Given the description of an element on the screen output the (x, y) to click on. 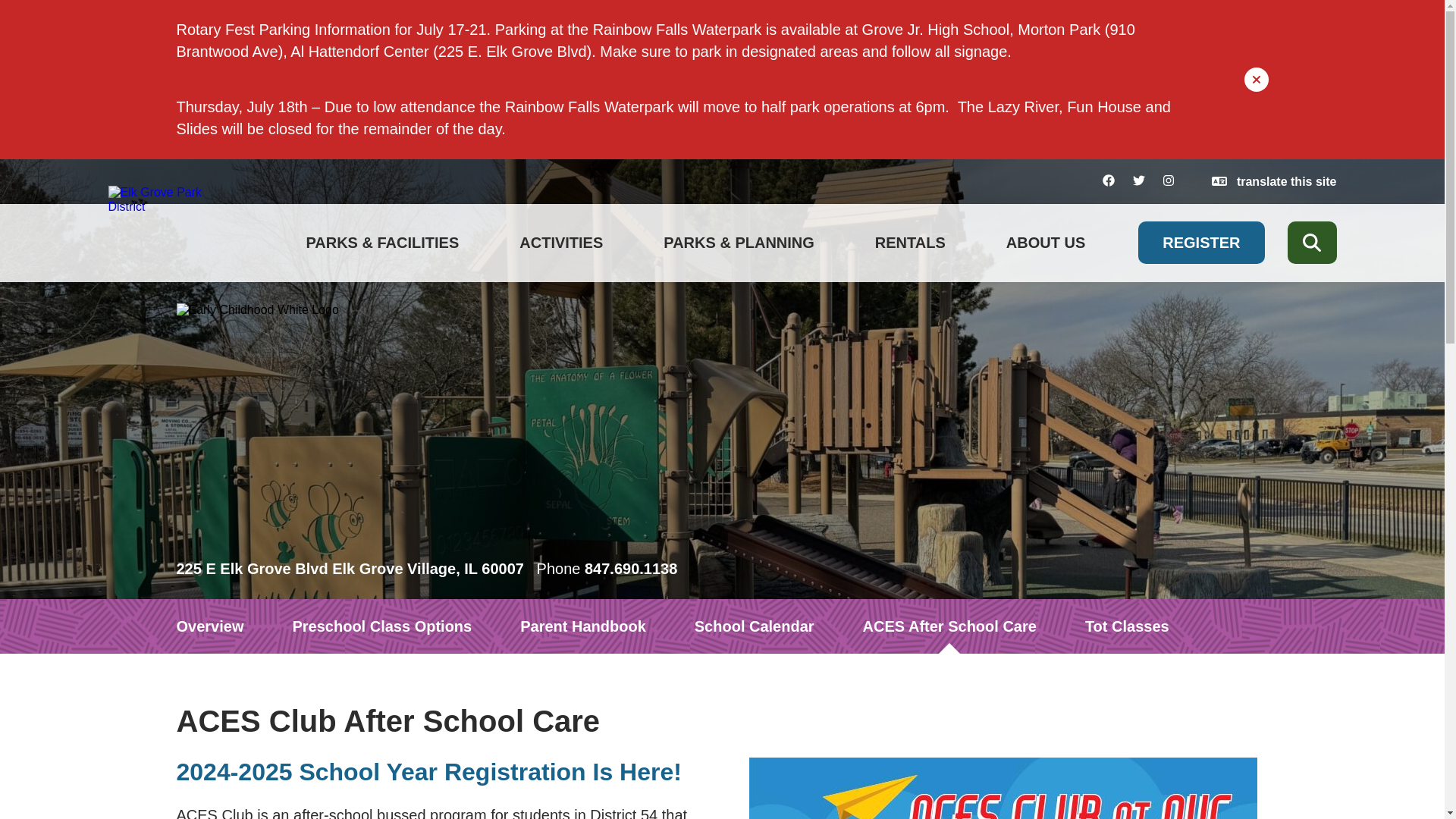
ACTIVITIES (561, 242)
